Given the description of an element on the screen output the (x, y) to click on. 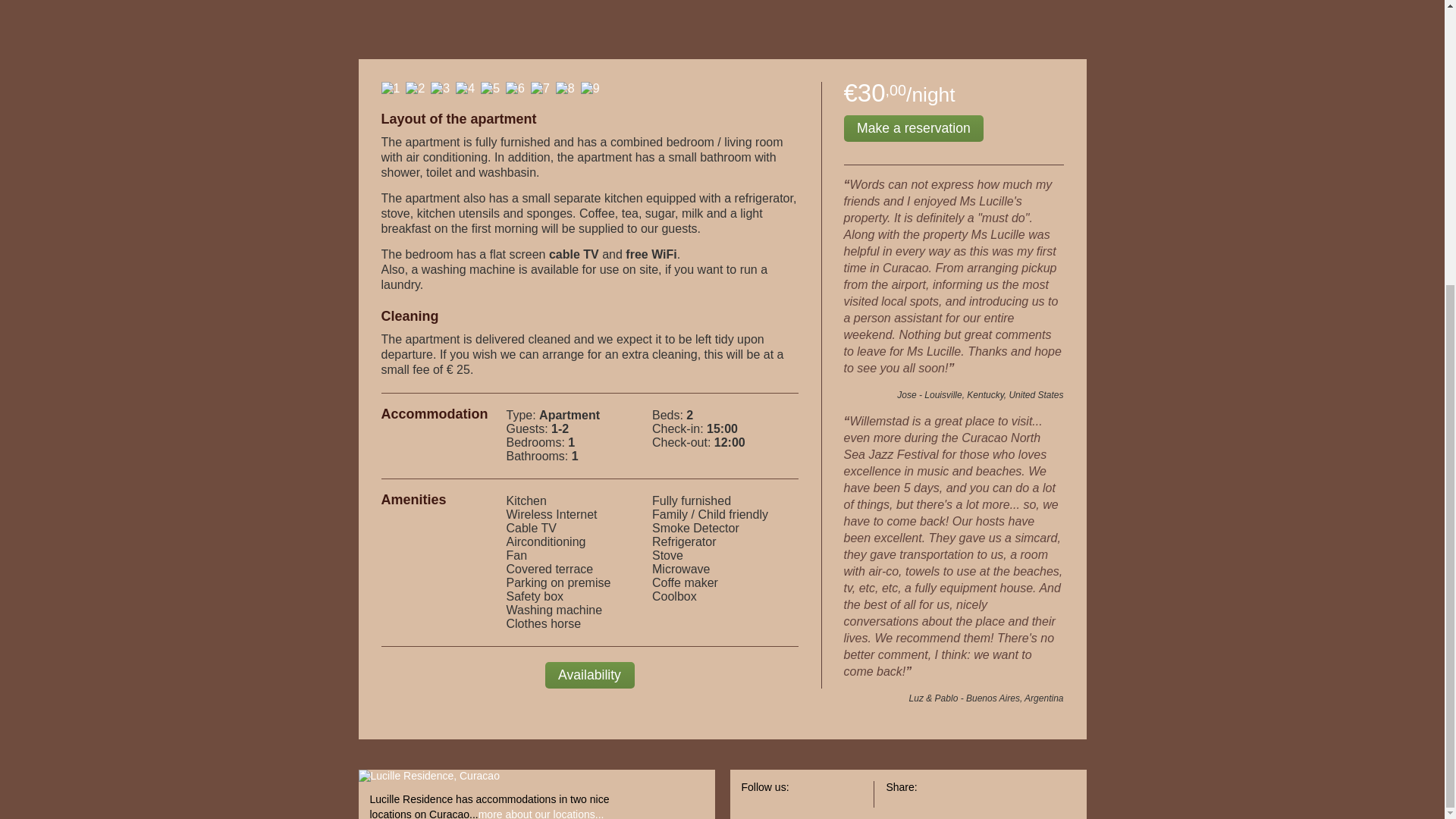
Make a reservation (913, 128)
Availability (588, 674)
Volg ons op Facebook (809, 793)
Volg ons op Google (845, 793)
